Given the description of an element on the screen output the (x, y) to click on. 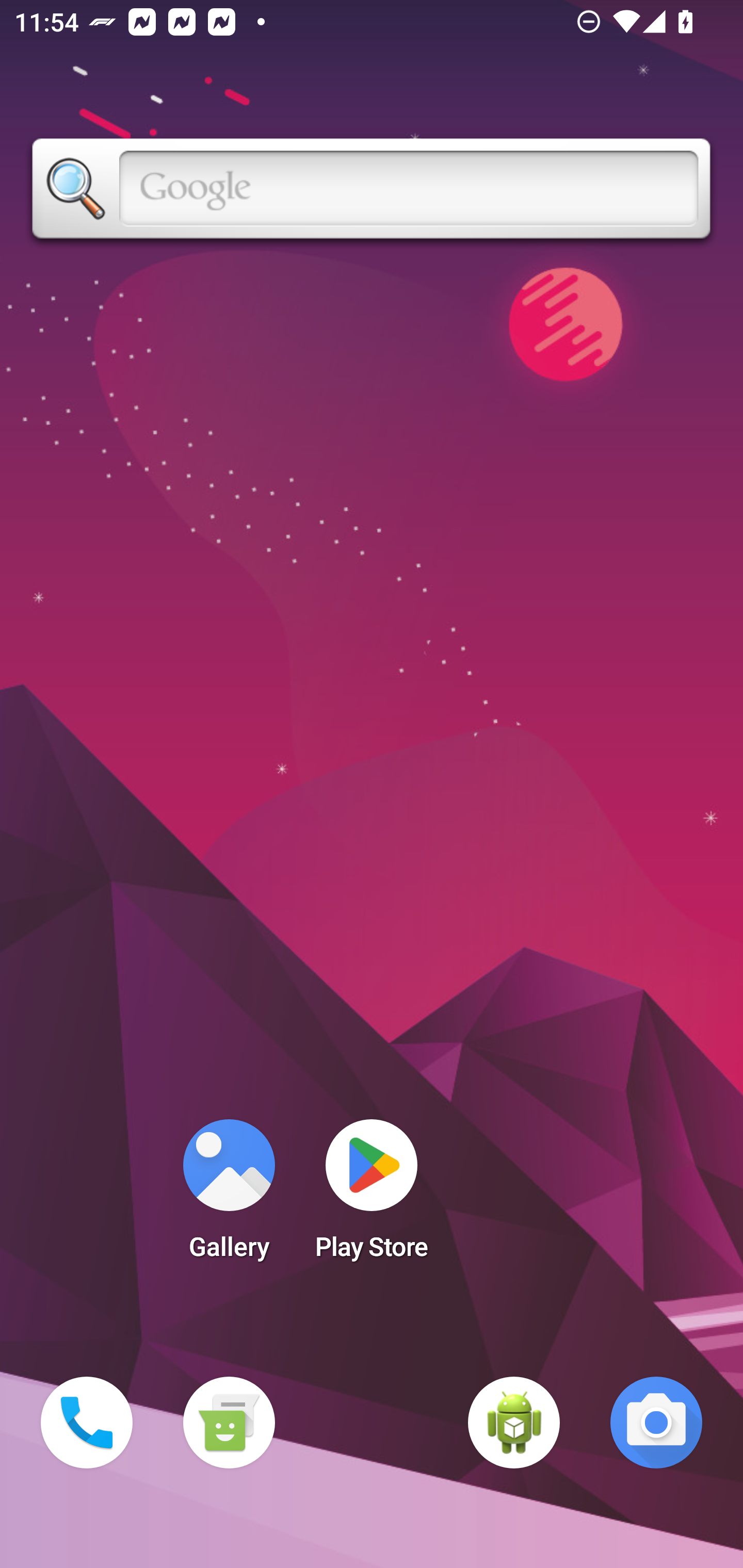
Gallery (228, 1195)
Play Store (371, 1195)
Phone (86, 1422)
Messaging (228, 1422)
WebView Browser Tester (513, 1422)
Camera (656, 1422)
